Given the description of an element on the screen output the (x, y) to click on. 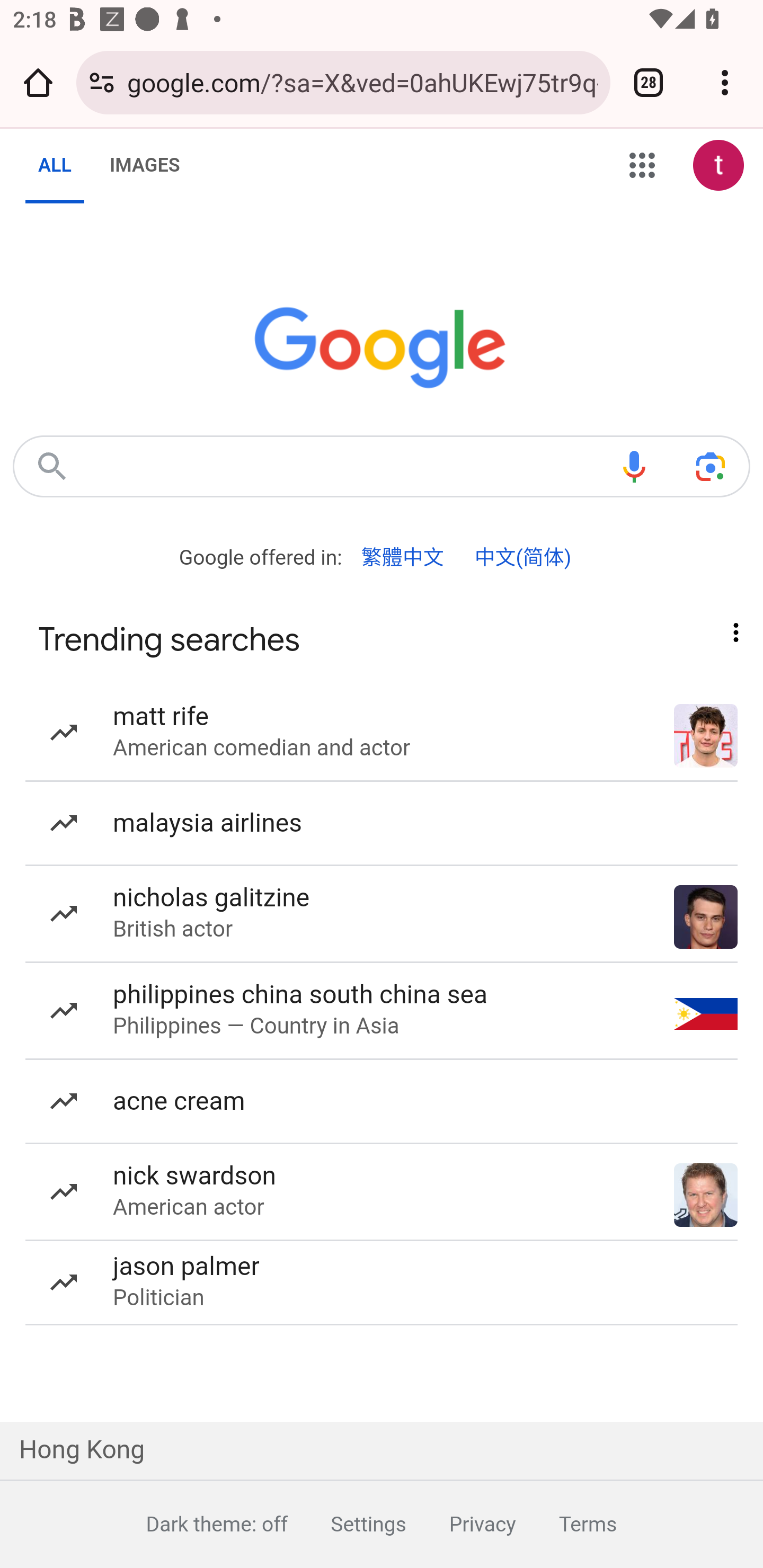
Open the home page (38, 82)
Connection is secure (101, 82)
Switch or close tabs (648, 82)
Customize and control Google Chrome (724, 82)
IMAGES (144, 165)
Google apps (641, 165)
Google Search (52, 466)
Search using your camera or photos (710, 466)
繁體中文 (402, 557)
中文(简体) (522, 557)
acne cream acne cream acne cream (381, 1101)
Dark theme: off (195, 1523)
Settings (346, 1523)
Privacy (460, 1523)
Terms (566, 1523)
